Given the description of an element on the screen output the (x, y) to click on. 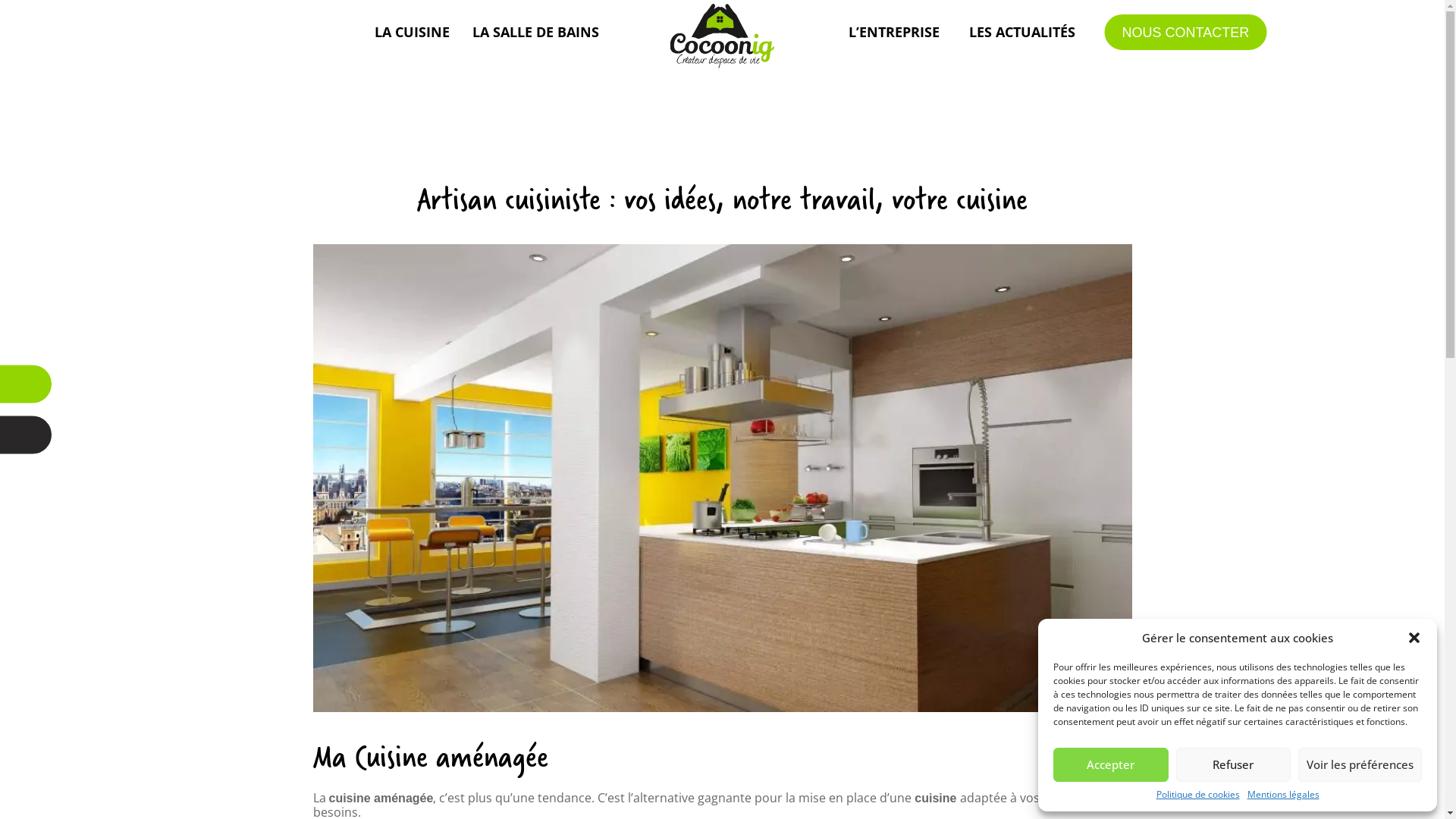
Politique de cookies Element type: text (1197, 794)
NOUS CONTACTER Element type: text (1185, 32)
cocoonig-landivisiau-brest-finistere-pose-cuisine Element type: hover (721, 478)
Accepter Element type: text (1110, 764)
Refuser Element type: text (1232, 764)
